Given the description of an element on the screen output the (x, y) to click on. 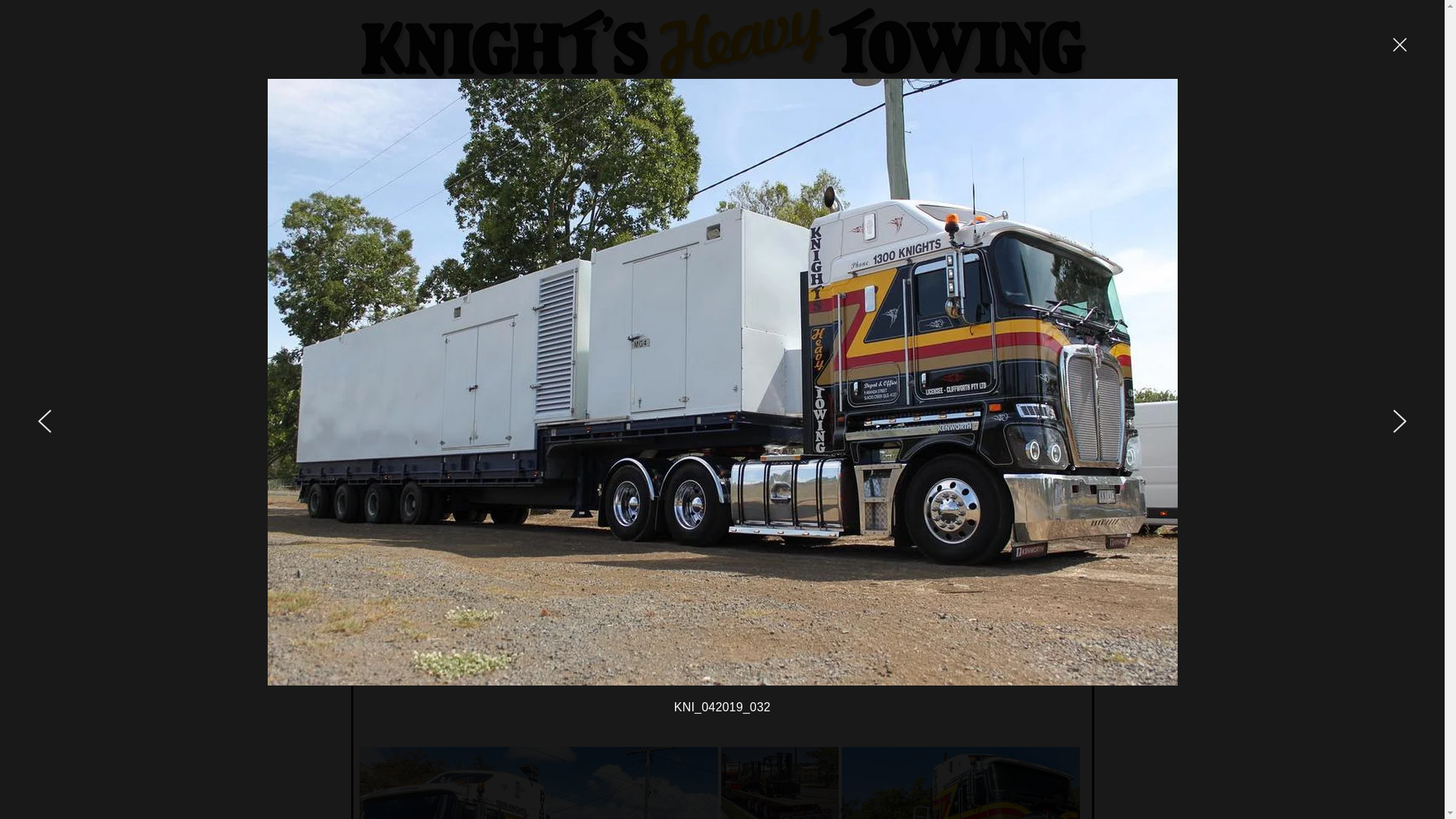
ABOUT Element type: text (621, 95)
HOME Element type: text (413, 95)
EQUIPMENT Element type: text (724, 95)
GALLERY Element type: text (932, 95)
Knights Heavy Towing LOGO.png Element type: hover (724, 44)
CONTACT Element type: text (516, 95)
SERVICES Element type: text (829, 95)
NEWS Element type: text (1036, 95)
